Given the description of an element on the screen output the (x, y) to click on. 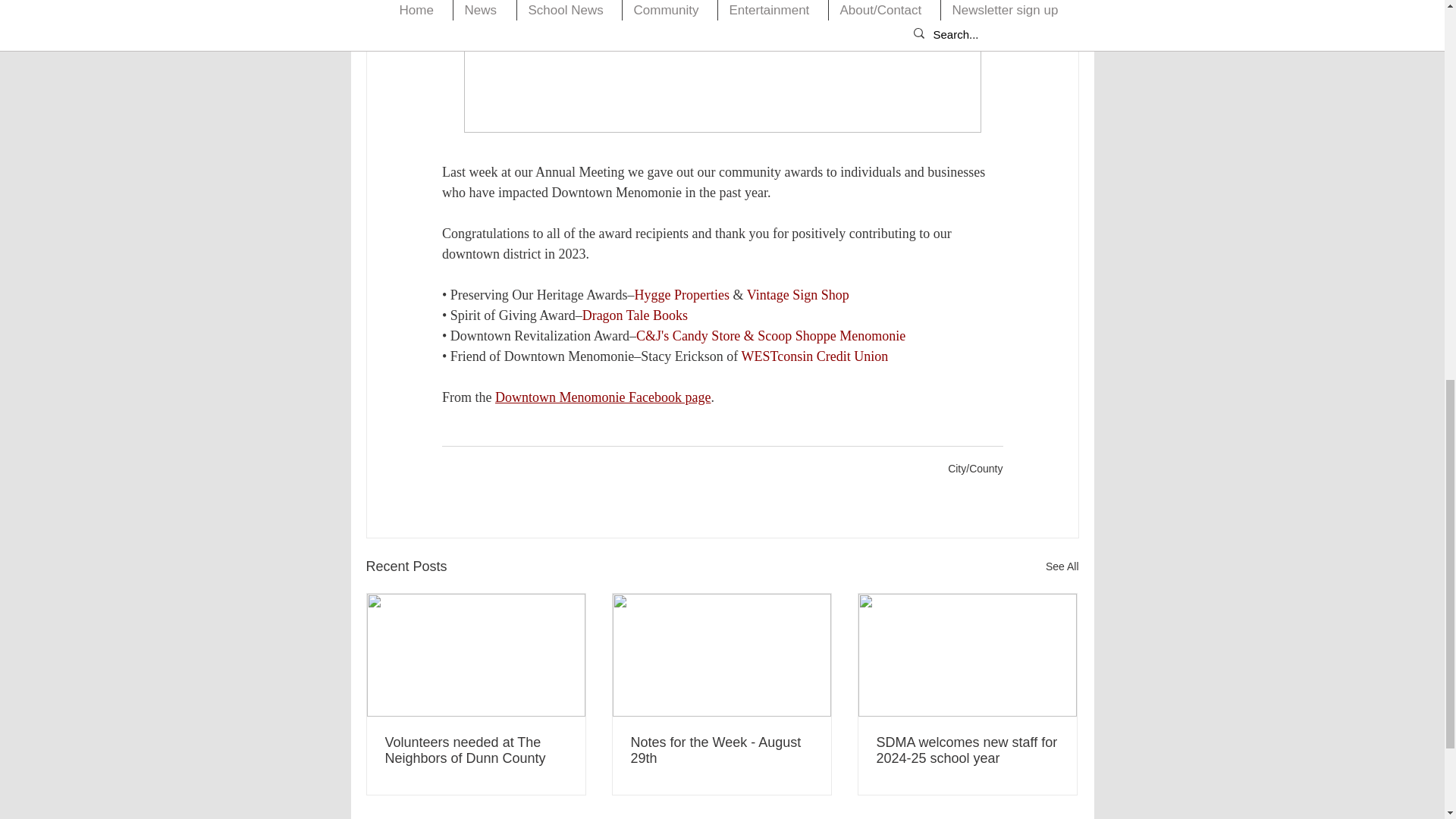
Hygge Properties (681, 294)
Dragon Tale Books (633, 314)
Vintage Sign Shop (796, 294)
